Given the description of an element on the screen output the (x, y) to click on. 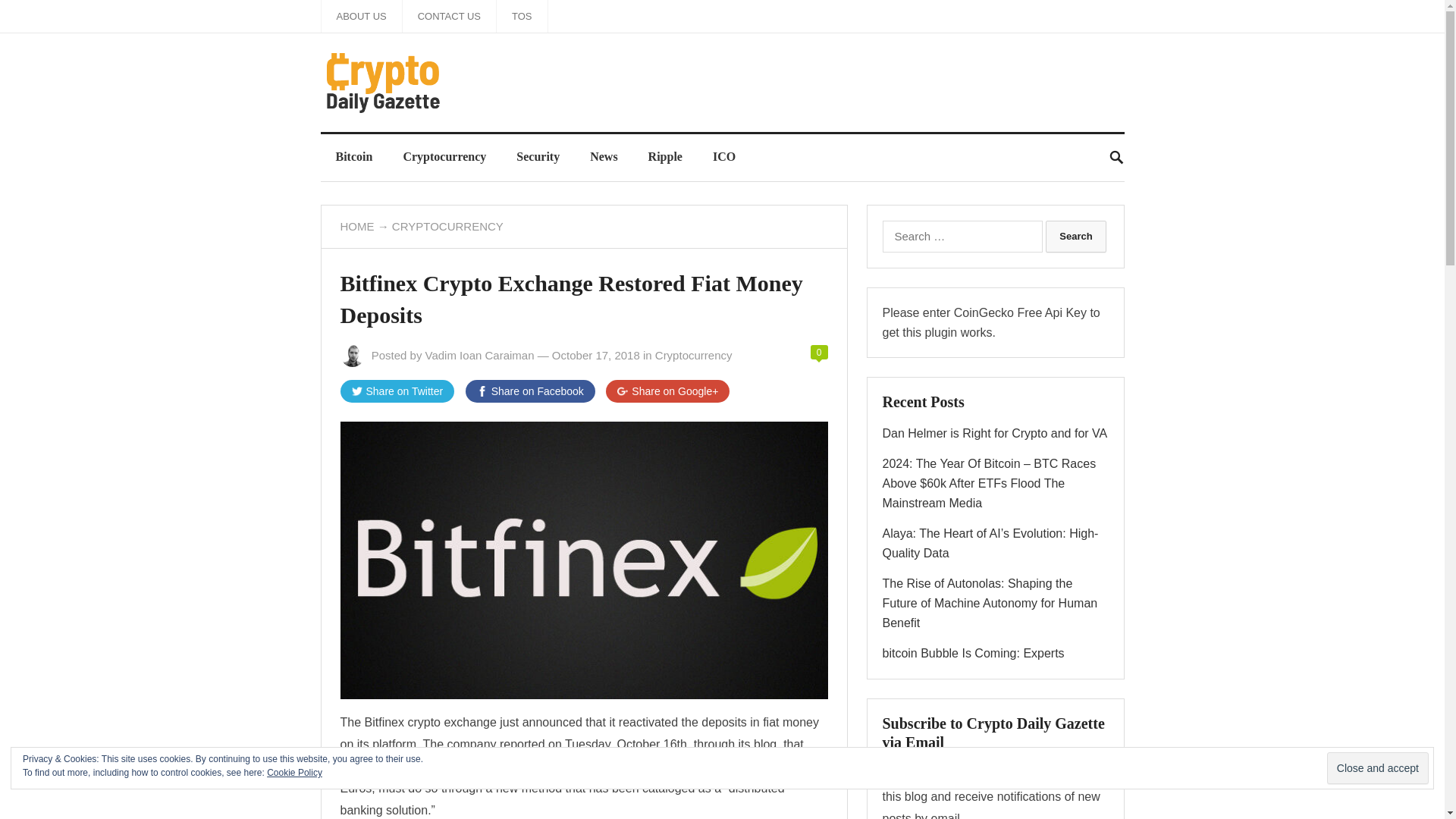
Posts by Vadim Ioan Caraiman (479, 354)
TOS (521, 16)
Cryptocurrency (693, 354)
CRYPTOCURRENCY (447, 226)
Share on Facebook (530, 391)
News (603, 156)
Security (537, 156)
CONTACT US (449, 16)
Share on Twitter (396, 391)
HOME (356, 226)
Ripple (665, 156)
Bitcoin (353, 156)
View all posts in Cryptocurrency (447, 226)
Search (1075, 236)
0 (819, 351)
